Given the description of an element on the screen output the (x, y) to click on. 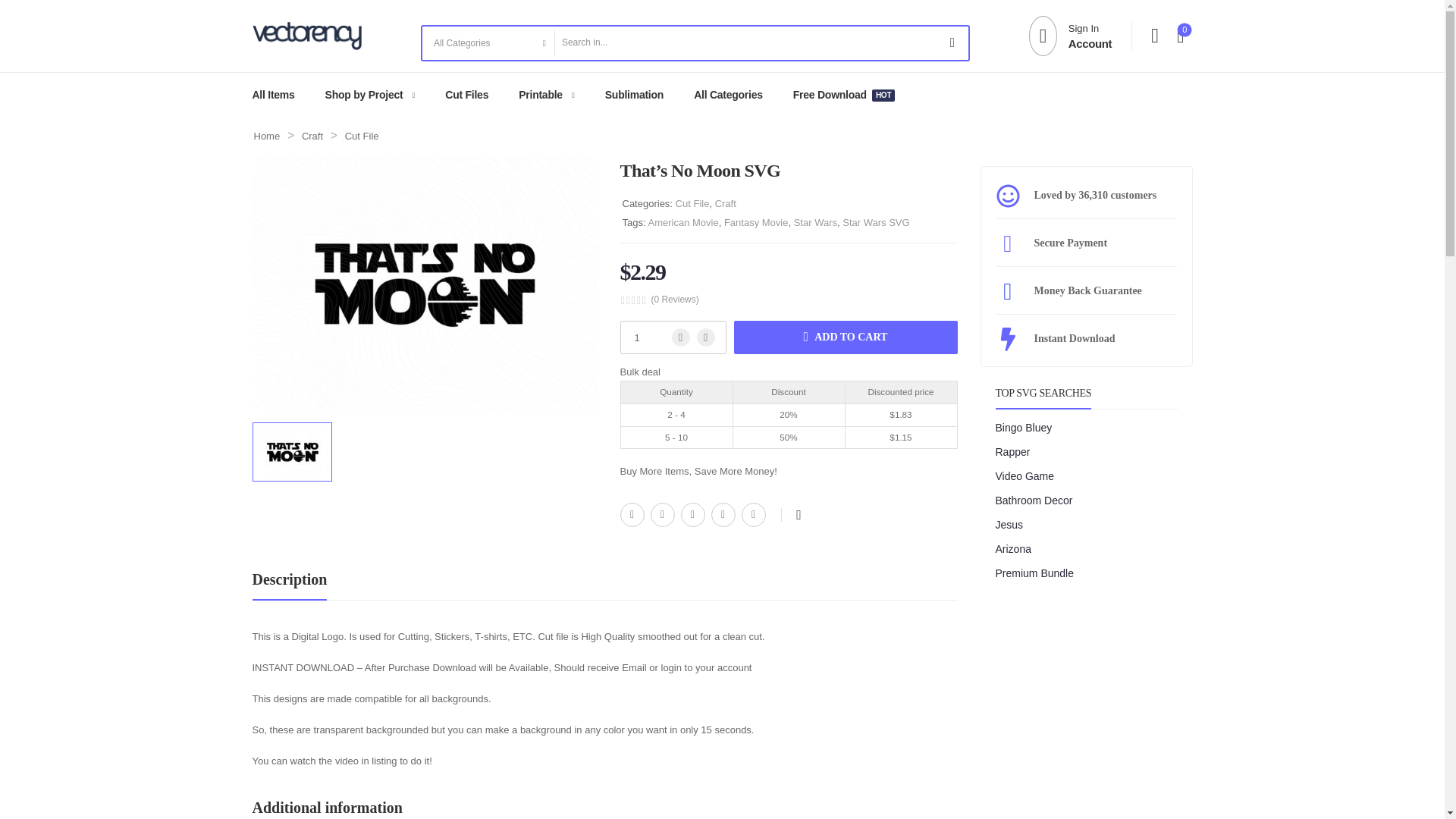
Twitter (662, 514)
Plus (704, 337)
Minus (680, 337)
Shop by Project (363, 94)
All Categories (728, 94)
Video Game (1027, 476)
That's No Moon SVG (1070, 35)
Sublimation (423, 284)
Premium Bundle (634, 94)
Facebook (1037, 573)
Fantasy Movie (632, 514)
Printable (756, 222)
Pinterest (540, 94)
Craft (692, 514)
